Given the description of an element on the screen output the (x, y) to click on. 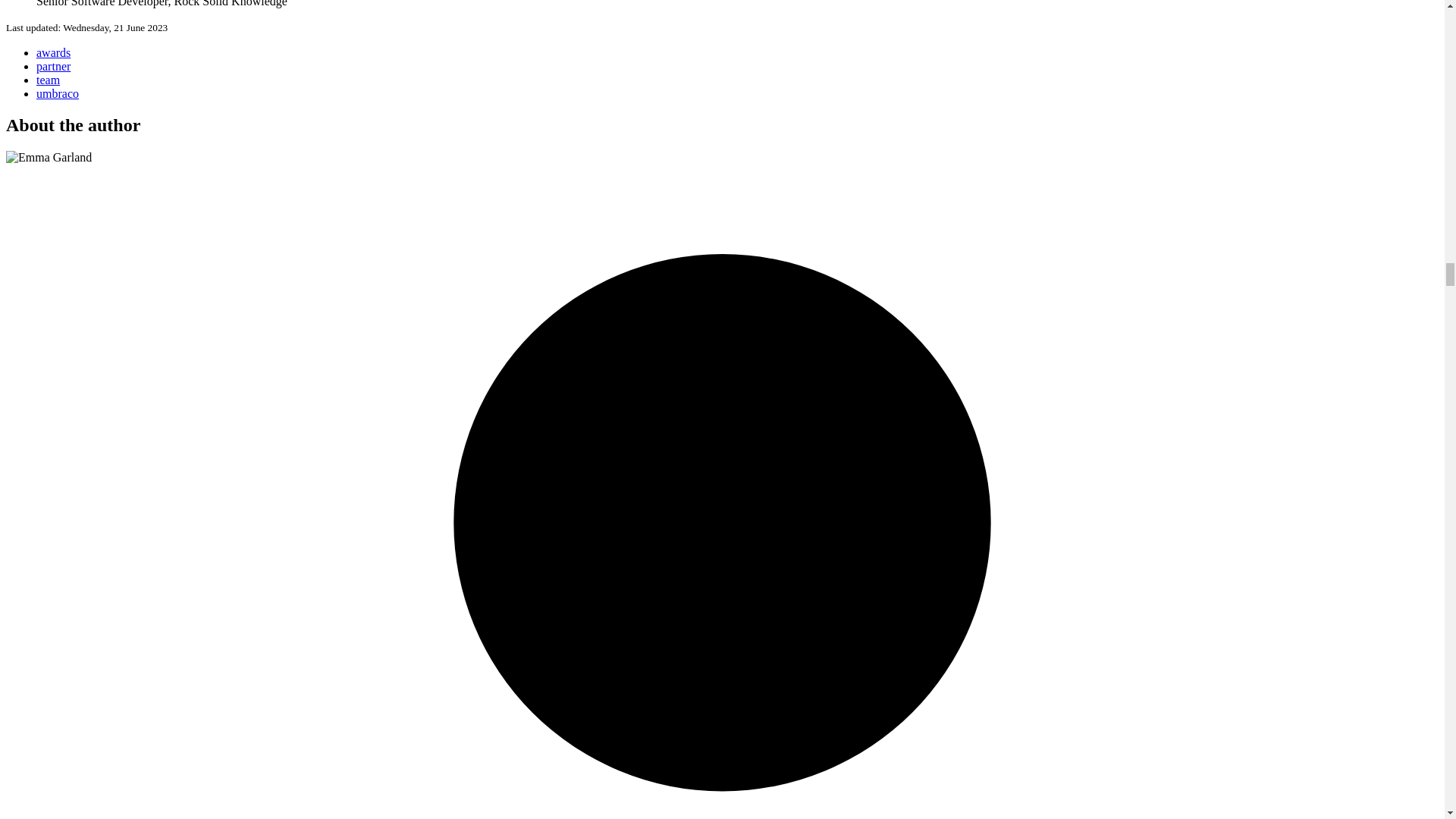
team (47, 78)
awards (52, 51)
partner (52, 65)
umbraco (57, 92)
